Given the description of an element on the screen output the (x, y) to click on. 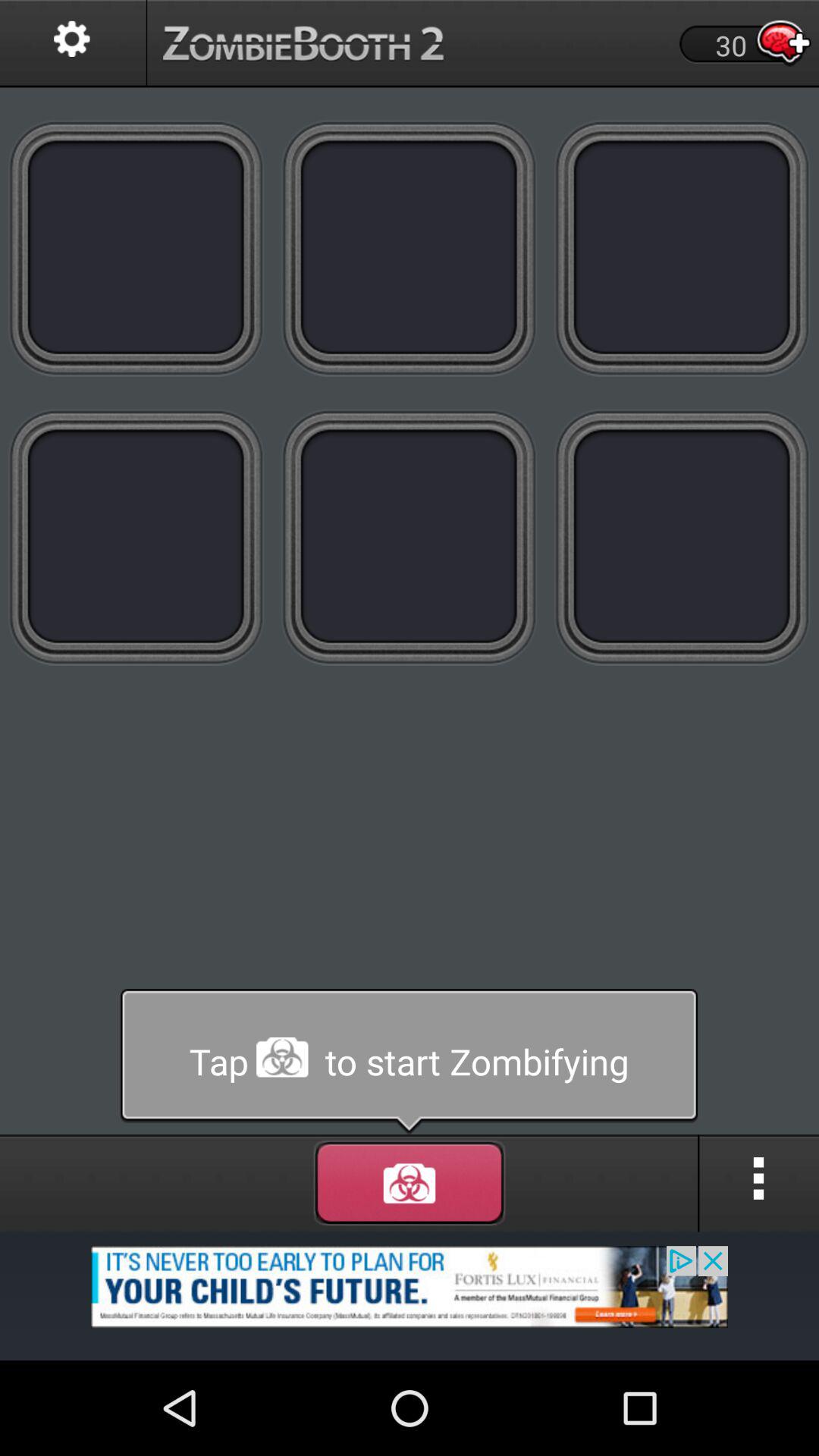
colors page (409, 247)
